Given the description of an element on the screen output the (x, y) to click on. 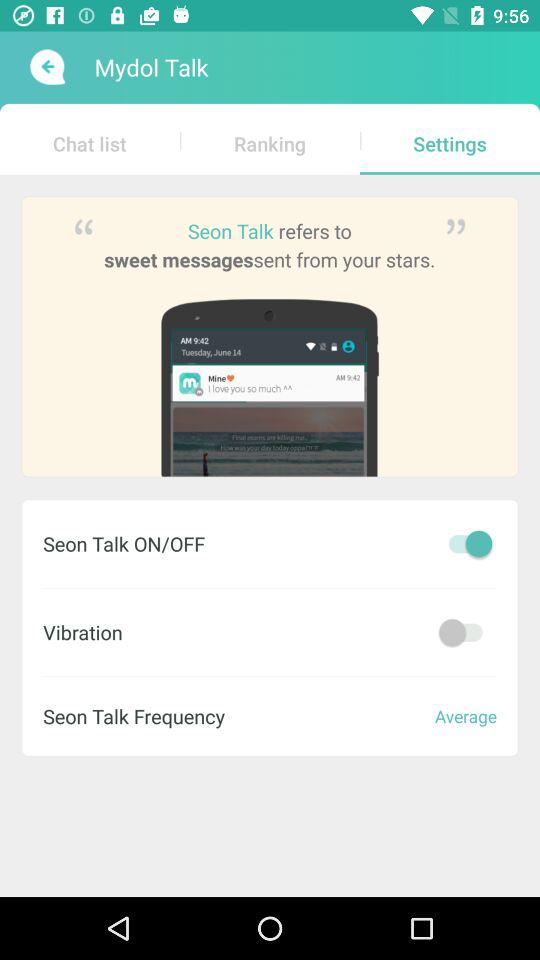
back button (45, 67)
